Given the description of an element on the screen output the (x, y) to click on. 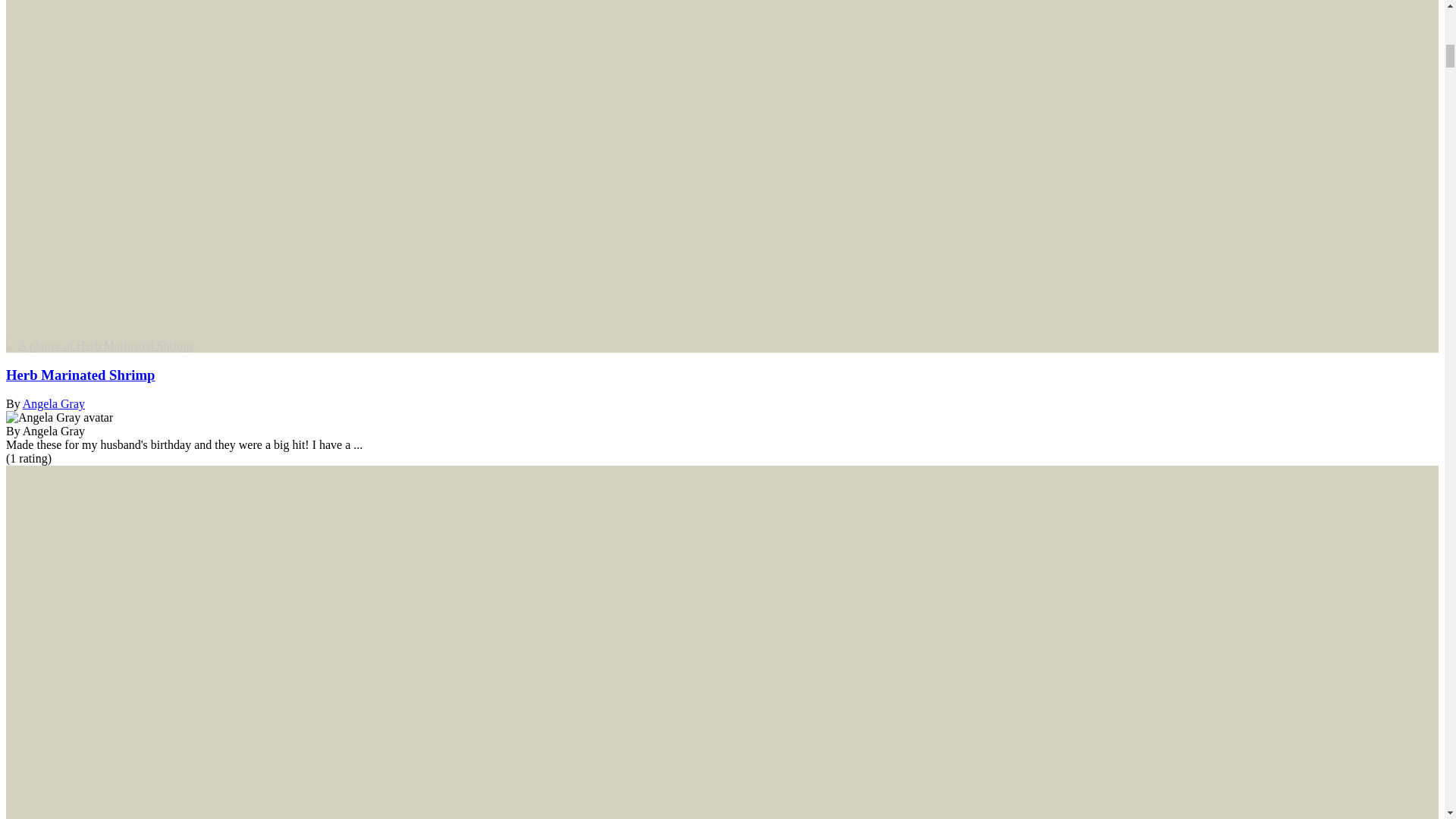
Angela Gray (59, 418)
5 (27, 458)
Angela Gray (53, 403)
Herb Marinated Shrimp (79, 374)
